Given the description of an element on the screen output the (x, y) to click on. 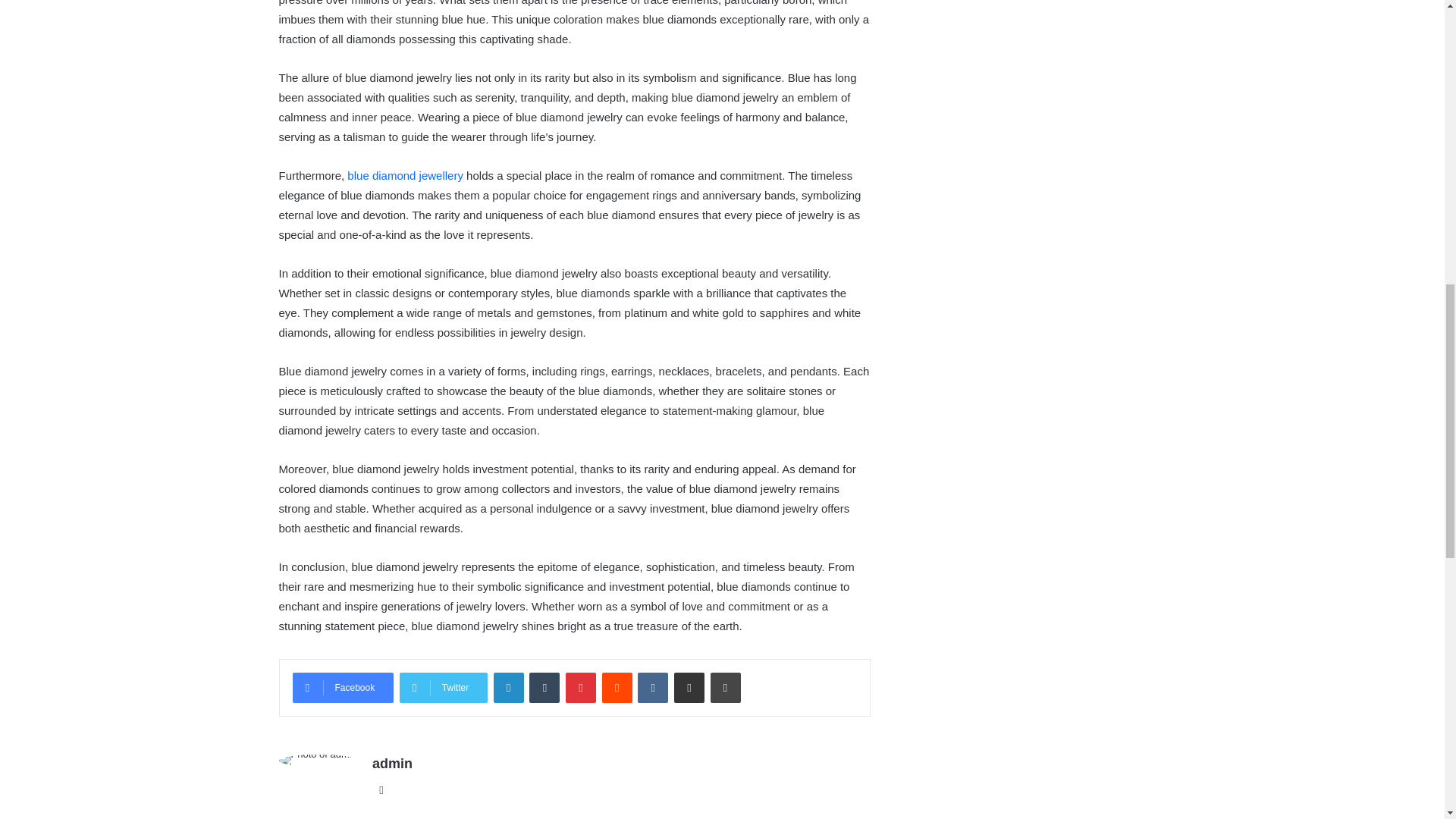
Tumblr (544, 687)
Tumblr (544, 687)
LinkedIn (508, 687)
VKontakte (652, 687)
Share via Email (689, 687)
Reddit (616, 687)
Twitter (442, 687)
Share via Email (689, 687)
Print (725, 687)
Facebook (343, 687)
